Given the description of an element on the screen output the (x, y) to click on. 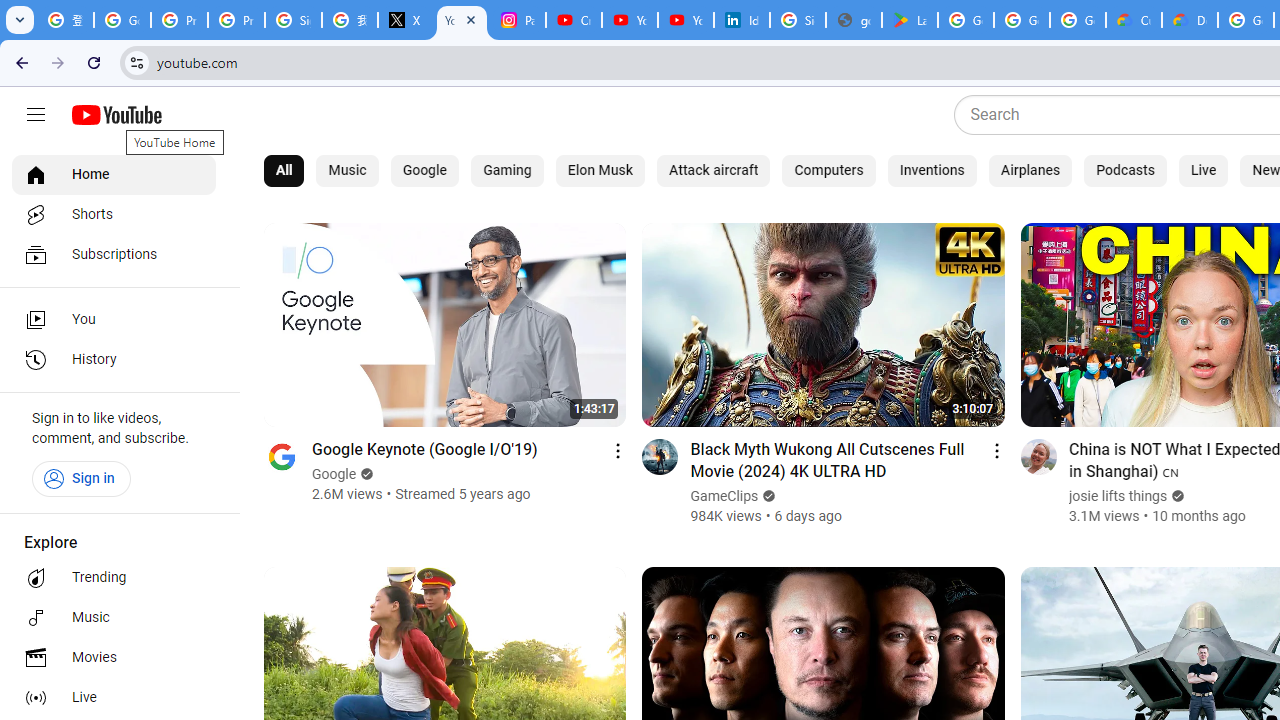
Movies (113, 657)
Customer Care | Google Cloud (1133, 20)
Music (113, 617)
YouTube (461, 20)
